Given the description of an element on the screen output the (x, y) to click on. 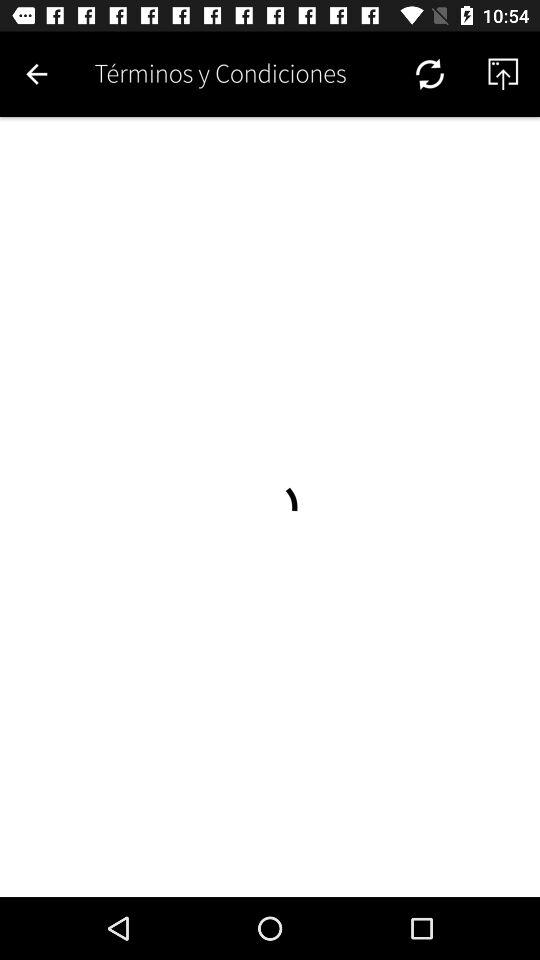
go back (36, 74)
